Given the description of an element on the screen output the (x, y) to click on. 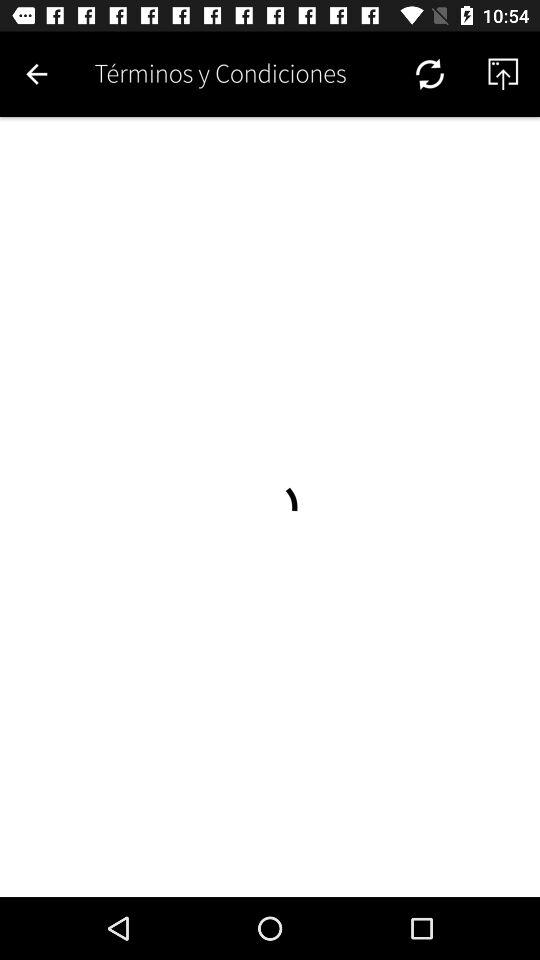
go back (36, 74)
